Given the description of an element on the screen output the (x, y) to click on. 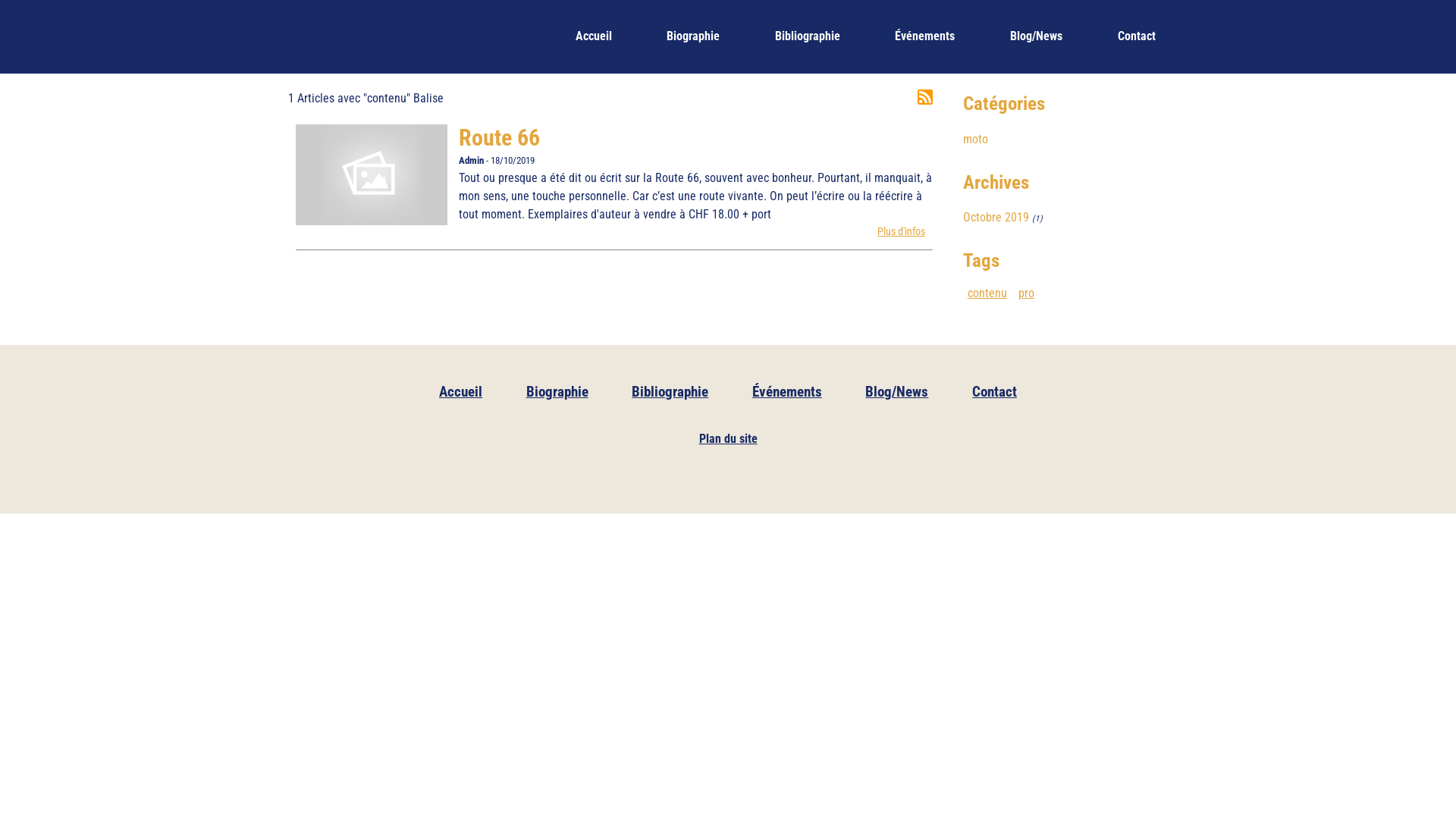
Accueil Element type: text (460, 391)
Bibliographie Element type: text (669, 391)
Octobre 2019 Element type: text (996, 217)
Route 66 Element type: hover (371, 174)
Biographie Element type: text (693, 36)
pro Element type: text (1025, 293)
contenu Element type: text (986, 293)
Contact Element type: text (994, 391)
Bibliographie Element type: text (807, 36)
Blog/News Element type: text (897, 391)
Contact Element type: text (1136, 36)
RSS Element type: text (924, 96)
moto Element type: text (975, 139)
Blog/News Element type: text (1036, 36)
Plan du site Element type: text (728, 438)
Accueil Element type: text (593, 36)
Route 66 Element type: text (498, 137)
Plus d'infos Element type: text (901, 231)
Biographie Element type: text (557, 391)
